Given the description of an element on the screen output the (x, y) to click on. 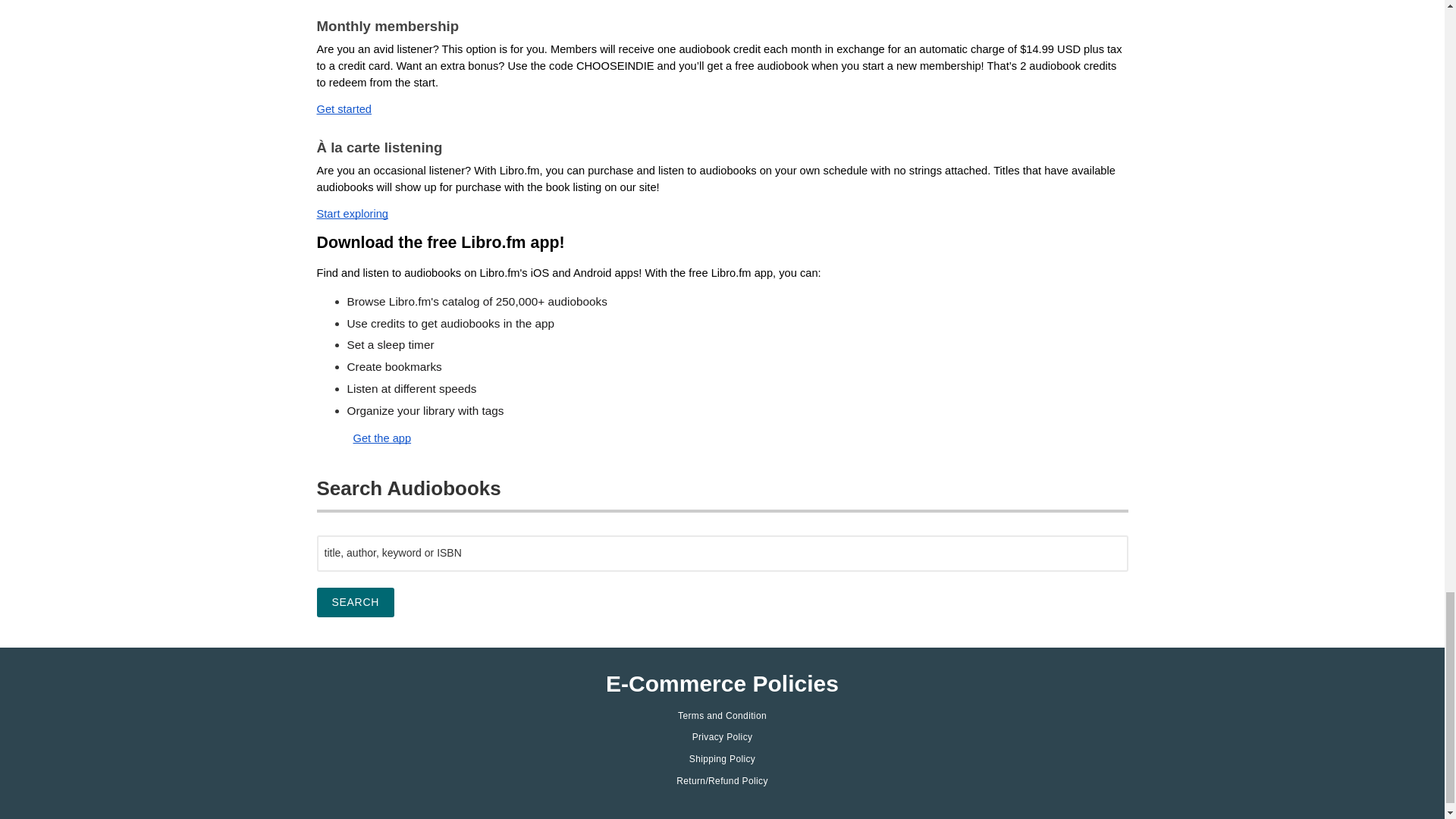
title, author, keyword or ISBN (722, 553)
Enter title, author, keyword or ISBN. (722, 553)
Search (355, 602)
